Given the description of an element on the screen output the (x, y) to click on. 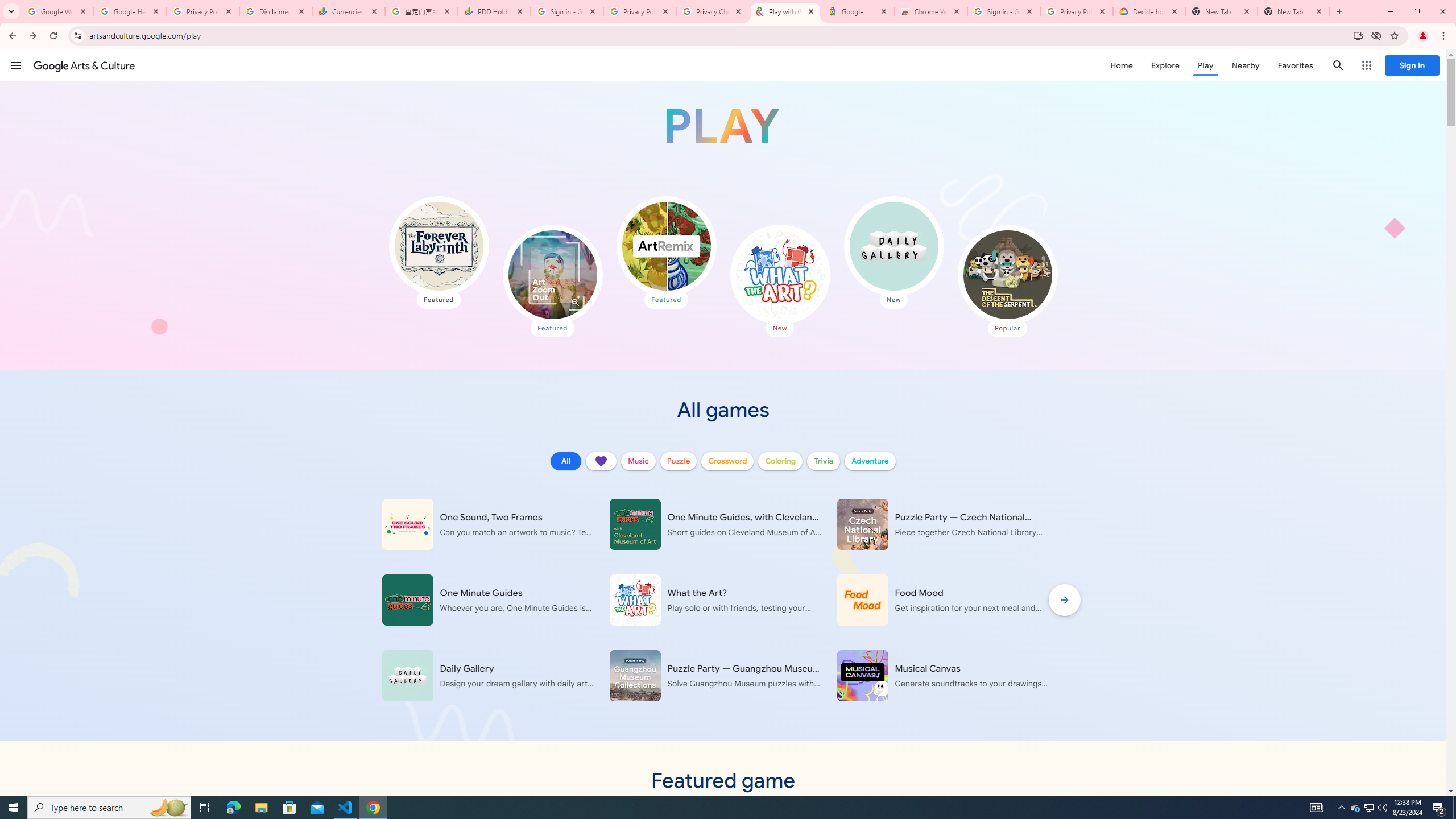
Daily Gallery (893, 246)
New Tab (1293, 11)
Sign in - Google Accounts (566, 11)
PDD Holdings Inc - ADR (PDD) Price & News - Google Finance (493, 11)
Art Remix (665, 246)
